Given the description of an element on the screen output the (x, y) to click on. 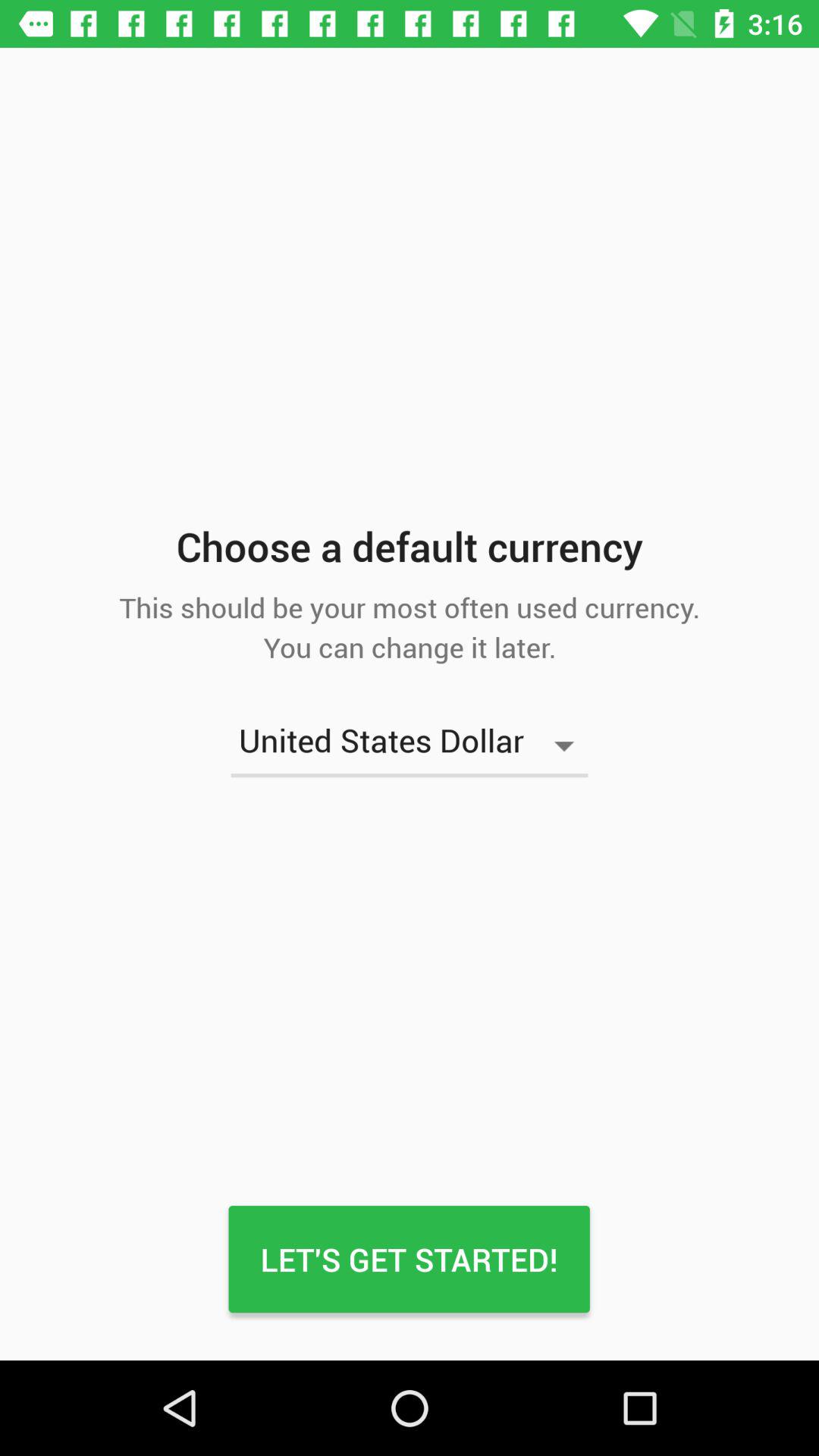
jump to let s get item (408, 1258)
